Given the description of an element on the screen output the (x, y) to click on. 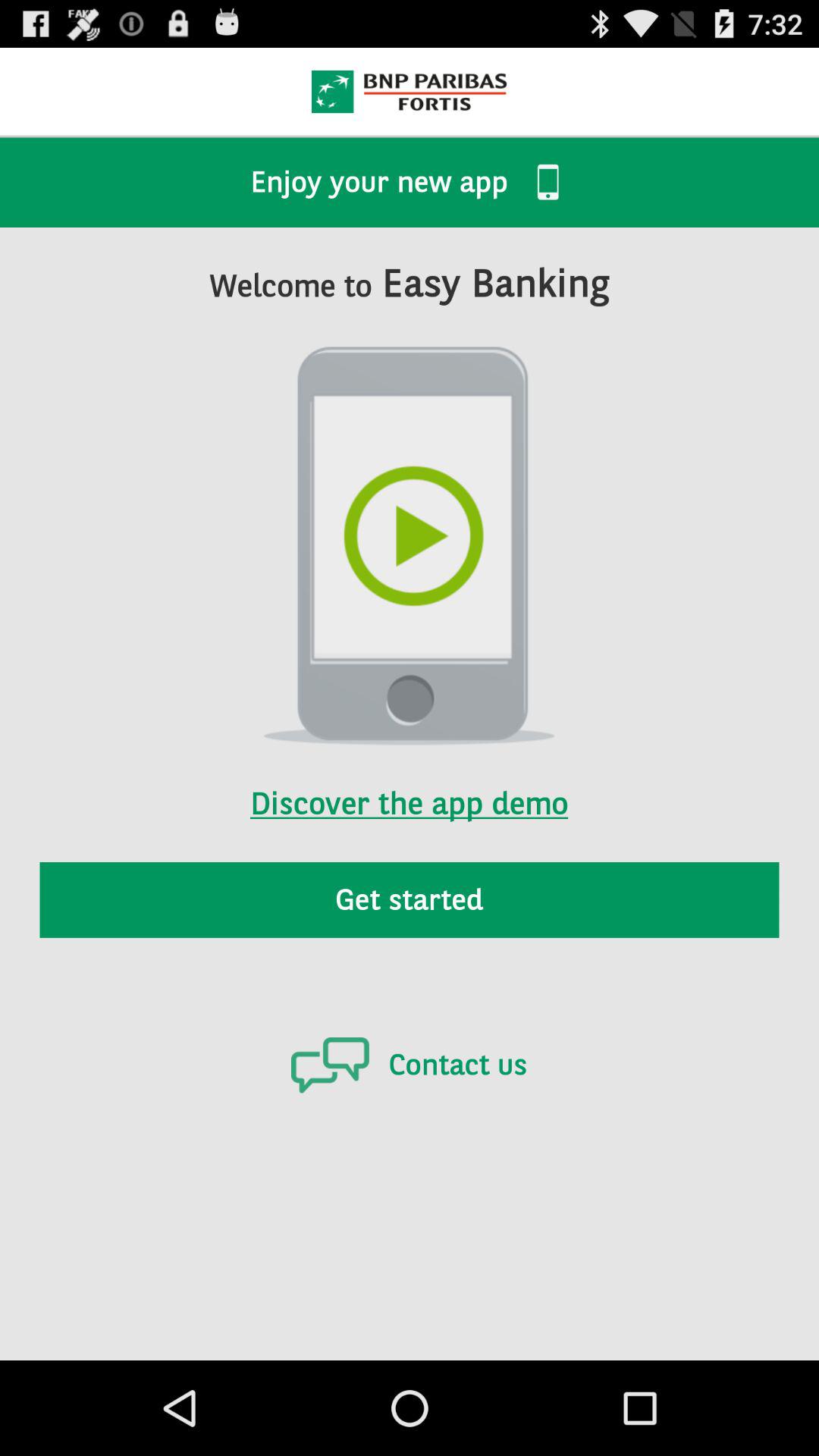
press icon below the get started icon (409, 1065)
